Given the description of an element on the screen output the (x, y) to click on. 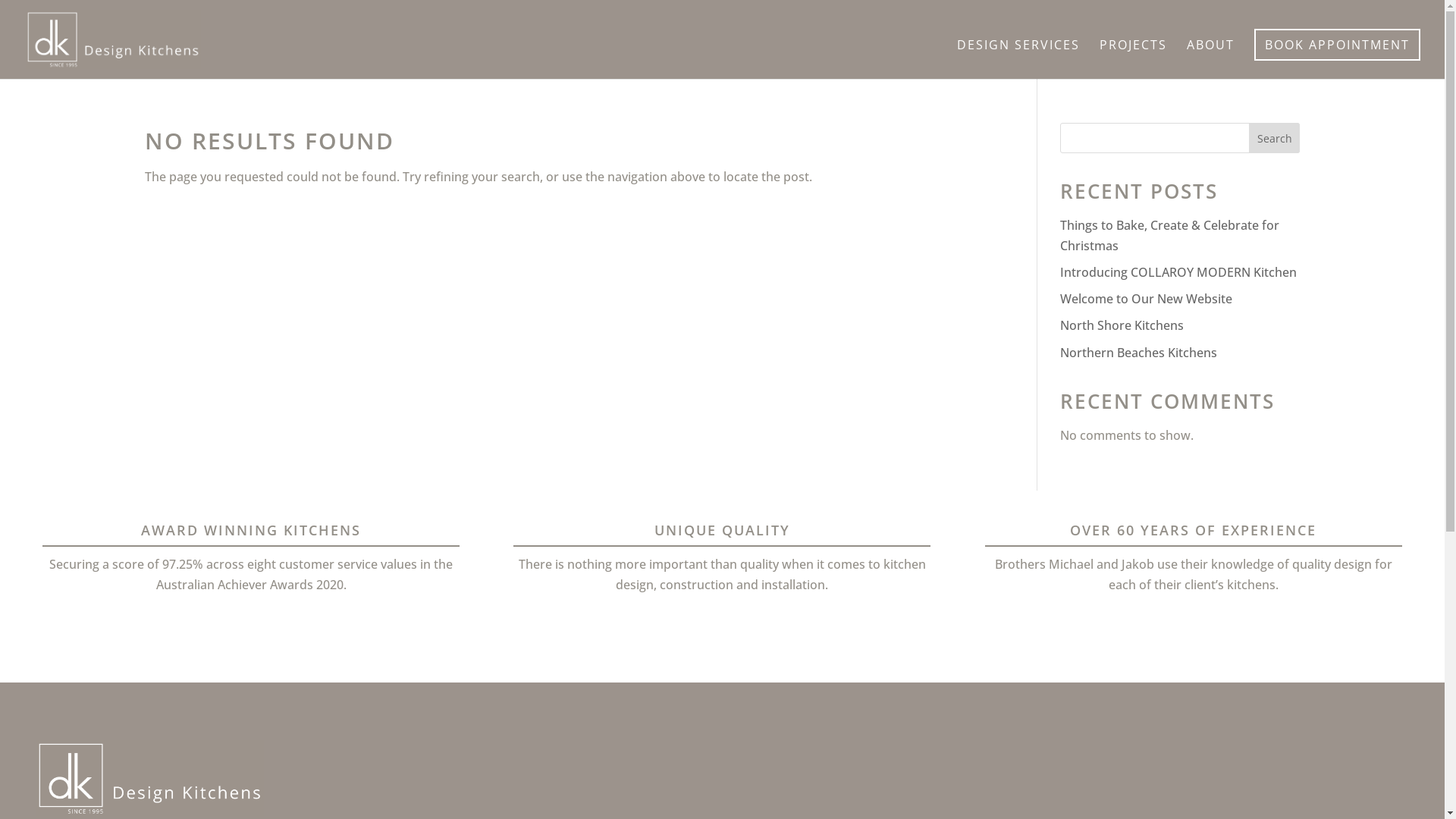
Search Element type: text (1274, 137)
BOOK APPOINTMENT Element type: text (1337, 44)
ABOUT Element type: text (1210, 58)
Introducing COLLAROY MODERN Kitchen Element type: text (1178, 271)
Things to Bake, Create & Celebrate for Christmas Element type: text (1169, 235)
PROJECTS Element type: text (1133, 58)
Northern Beaches Kitchens Element type: text (1138, 352)
DESIGN SERVICES Element type: text (1018, 58)
DK Logo Element type: hover (149, 778)
Welcome to Our New Website Element type: text (1146, 298)
North Shore Kitchens Element type: text (1121, 324)
